Given the description of an element on the screen output the (x, y) to click on. 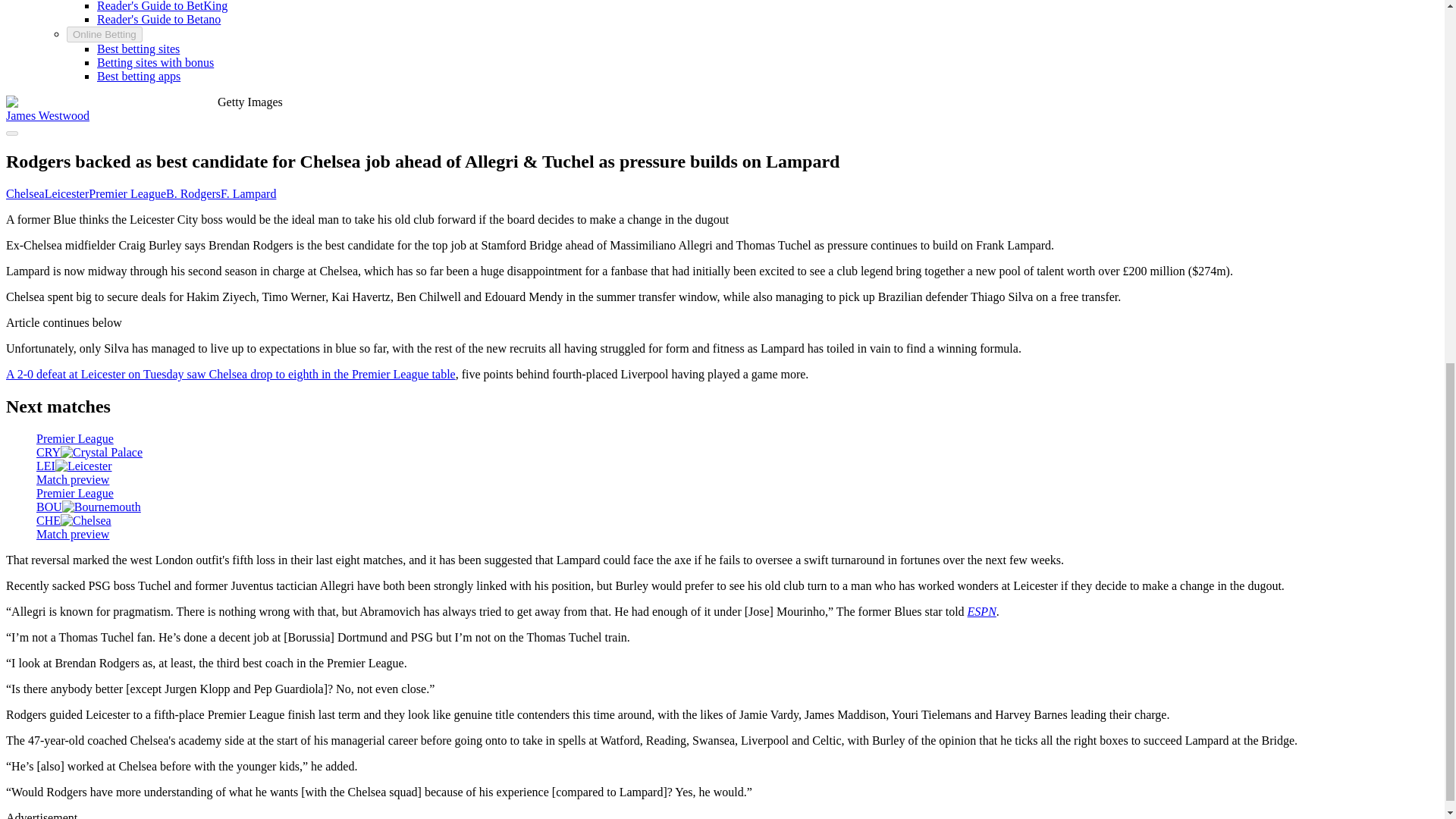
B. Rodgers (193, 193)
Chelsea (25, 193)
F. Lampard (248, 193)
Premier League (126, 193)
Leicester (66, 193)
